Given the description of an element on the screen output the (x, y) to click on. 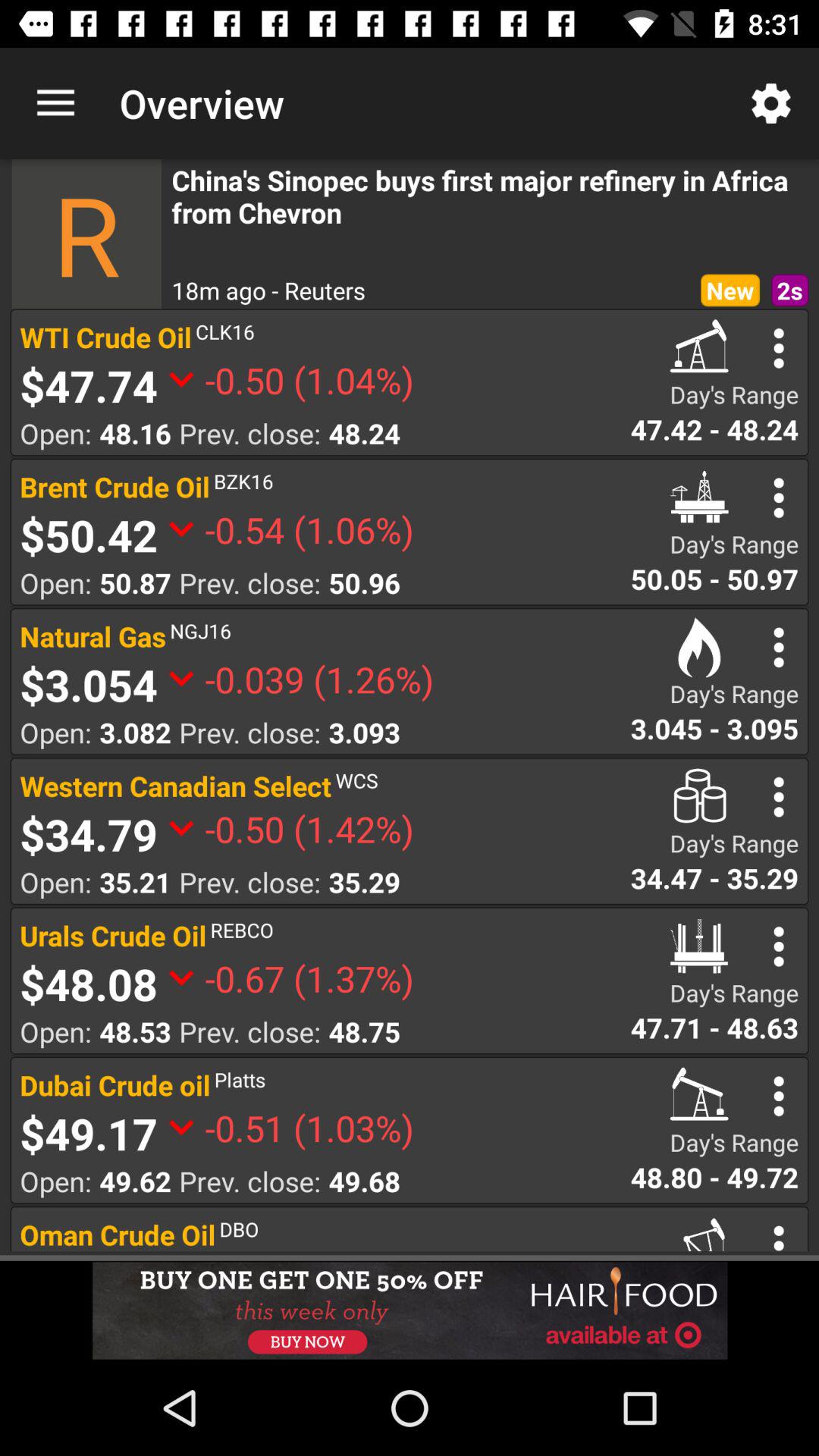
click on the icon in the dubai crude oil option (699, 1095)
tap the option button to the right corner of oman crude oil (779, 1235)
select urals crude oil logo (699, 946)
